Given the description of an element on the screen output the (x, y) to click on. 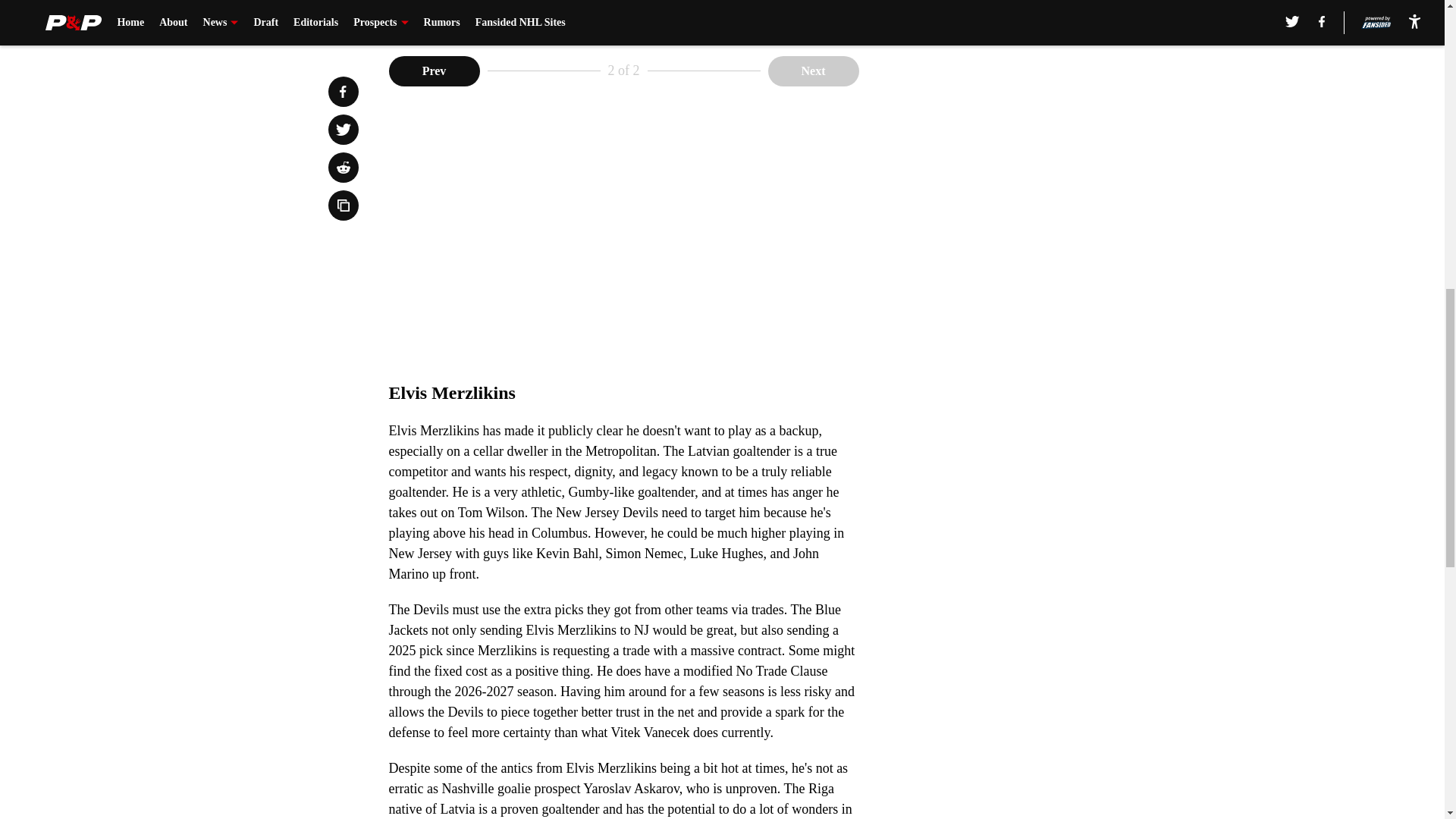
Next (813, 71)
Prev (433, 71)
